Given the description of an element on the screen output the (x, y) to click on. 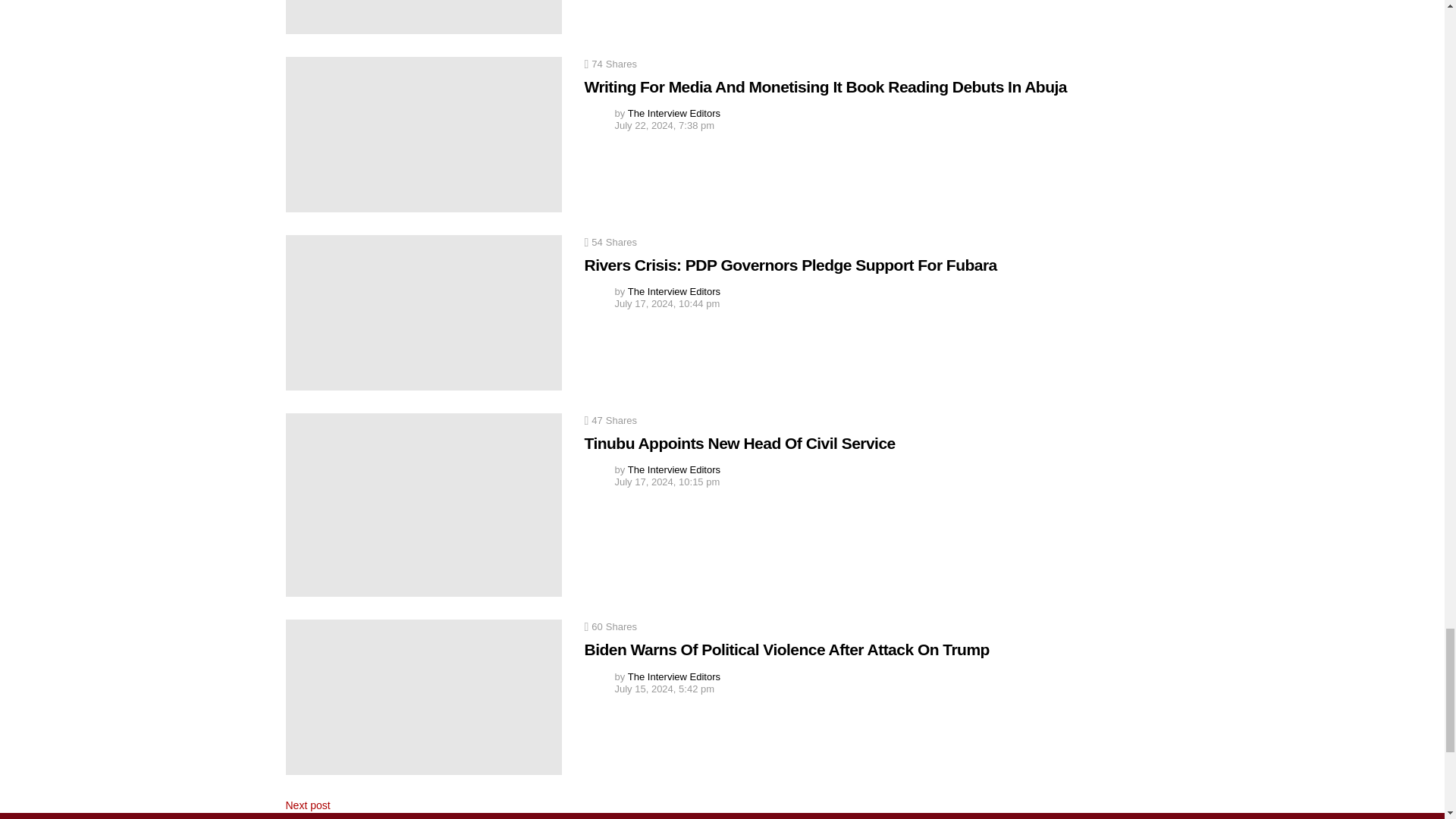
Tinubu Appoints New Head Of Civil Service (422, 504)
Rivers Crisis: PDP Governors Pledge Support For Fubara (422, 312)
Posts by The Interview Editors (673, 291)
Posts by The Interview Editors (673, 112)
